Given the description of an element on the screen output the (x, y) to click on. 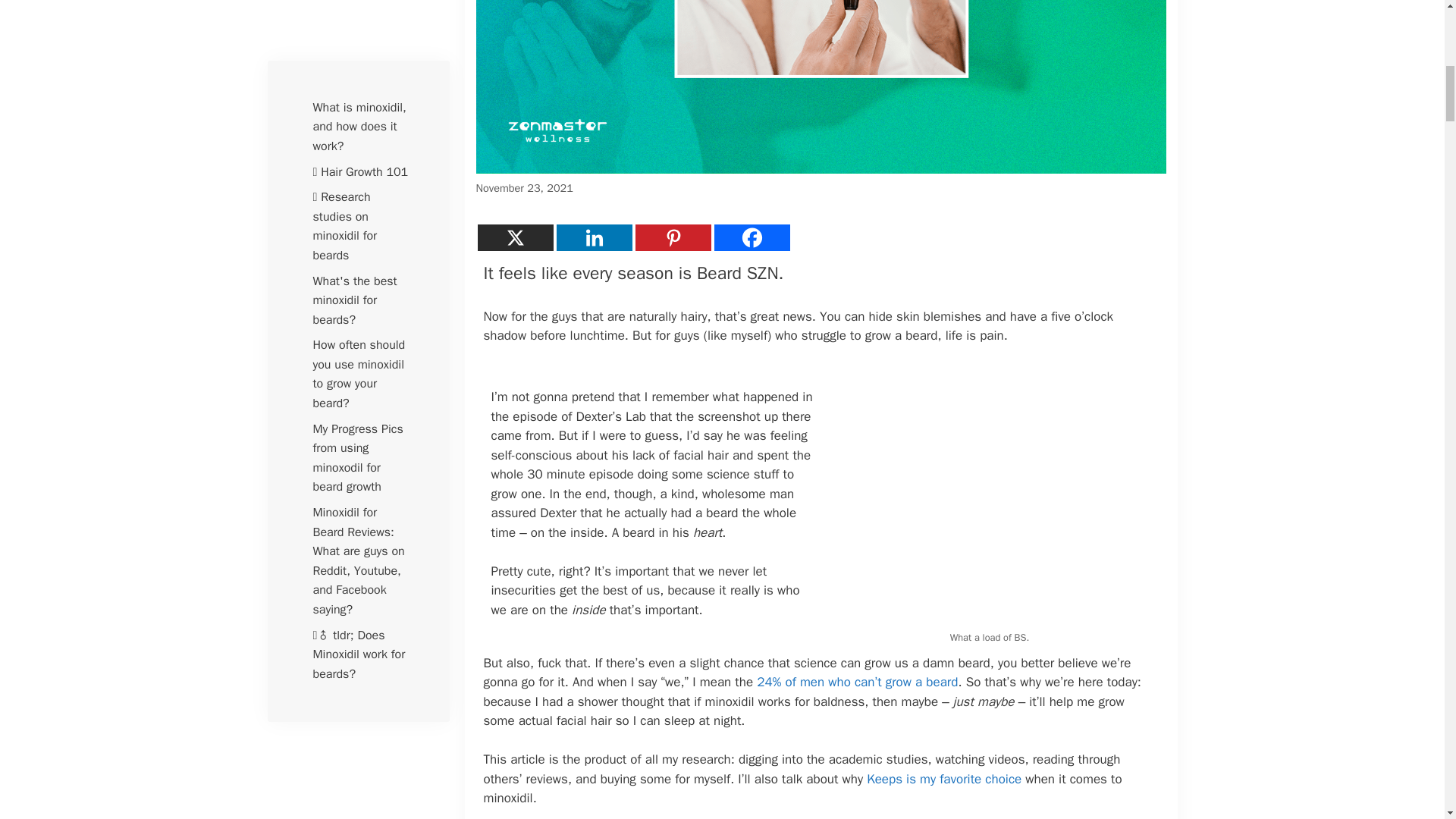
X (515, 237)
Keeps is my favorite choice (945, 779)
Linkedin (593, 237)
Facebook (752, 237)
Pinterest (672, 237)
